Given the description of an element on the screen output the (x, y) to click on. 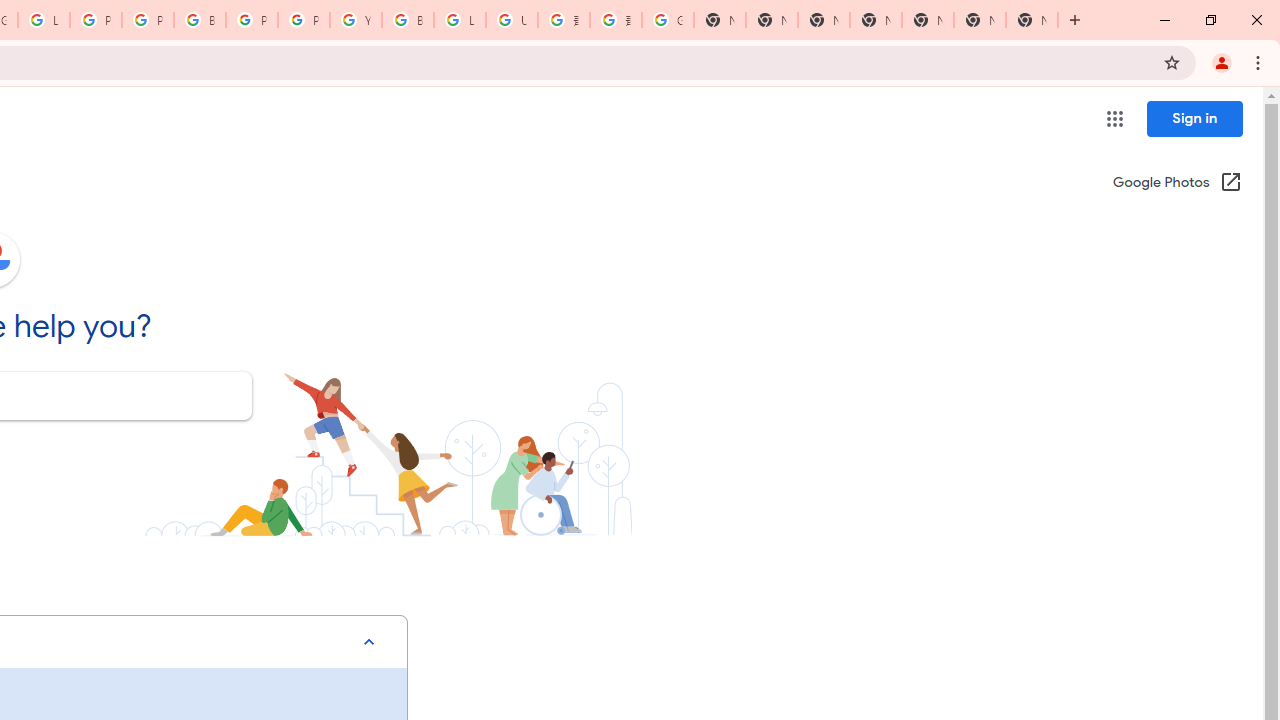
Google Images (667, 20)
Privacy Help Center - Policies Help (95, 20)
Google Photos (Open in a new window) (1177, 183)
YouTube (355, 20)
